Given the description of an element on the screen output the (x, y) to click on. 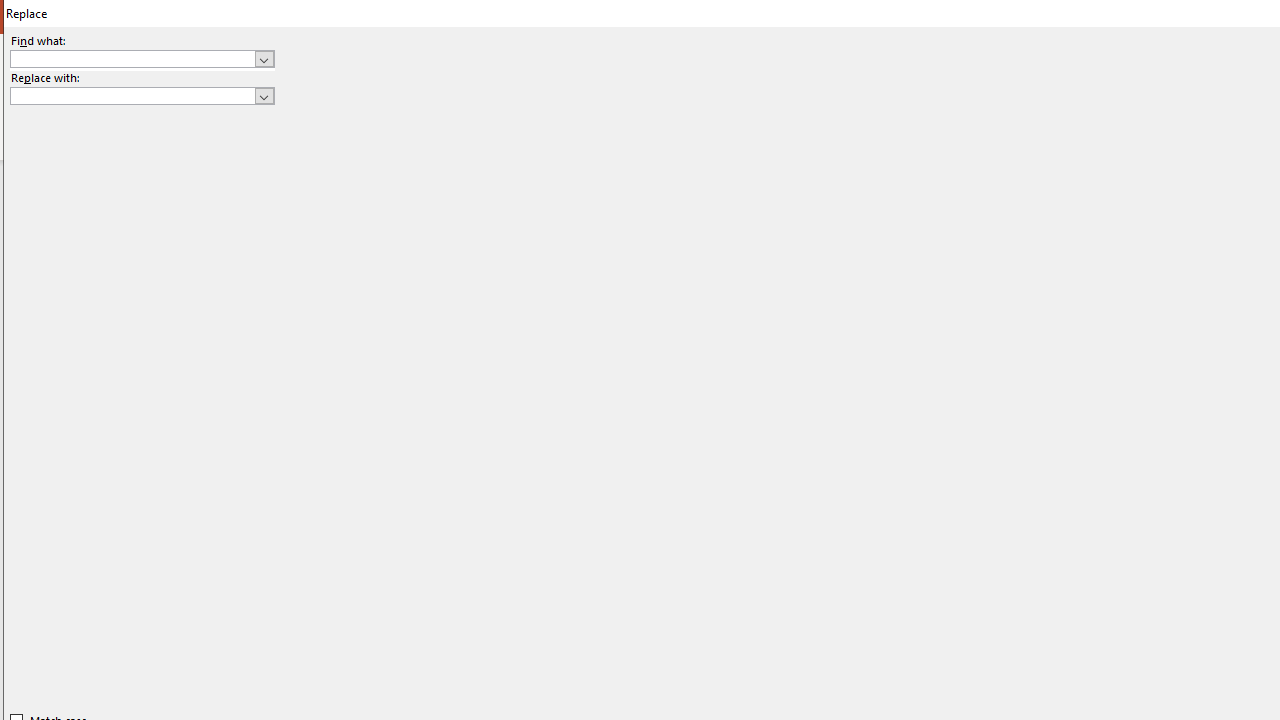
Replace with (142, 96)
Replace with (132, 95)
Find what (132, 58)
Find what (142, 58)
